Given the description of an element on the screen output the (x, y) to click on. 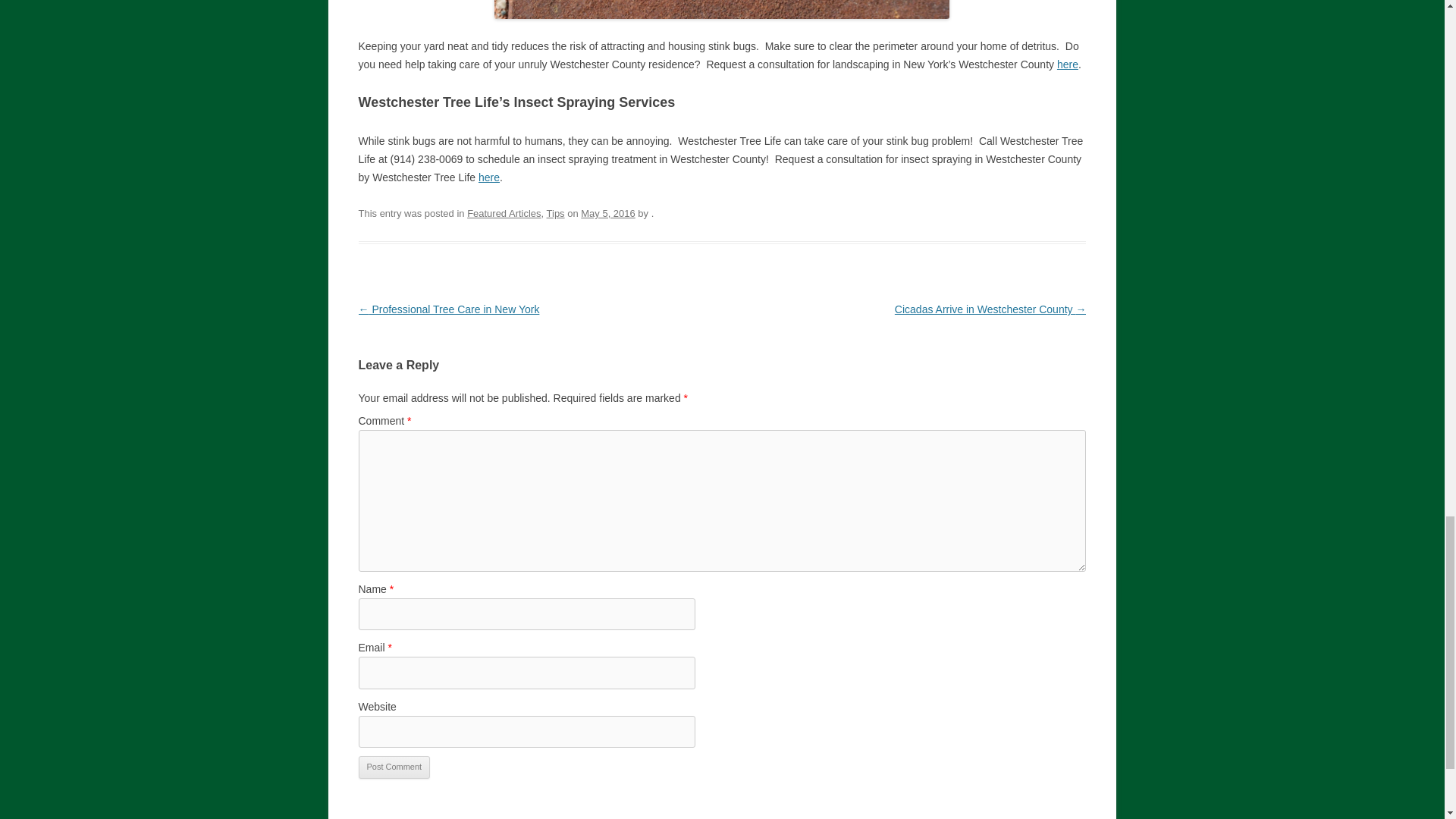
Tips (555, 213)
here (489, 177)
Post Comment (393, 766)
Post Comment (393, 766)
May 5, 2016 (607, 213)
9:00 AM (607, 213)
here (1067, 64)
Featured Articles (503, 213)
